Given the description of an element on the screen output the (x, y) to click on. 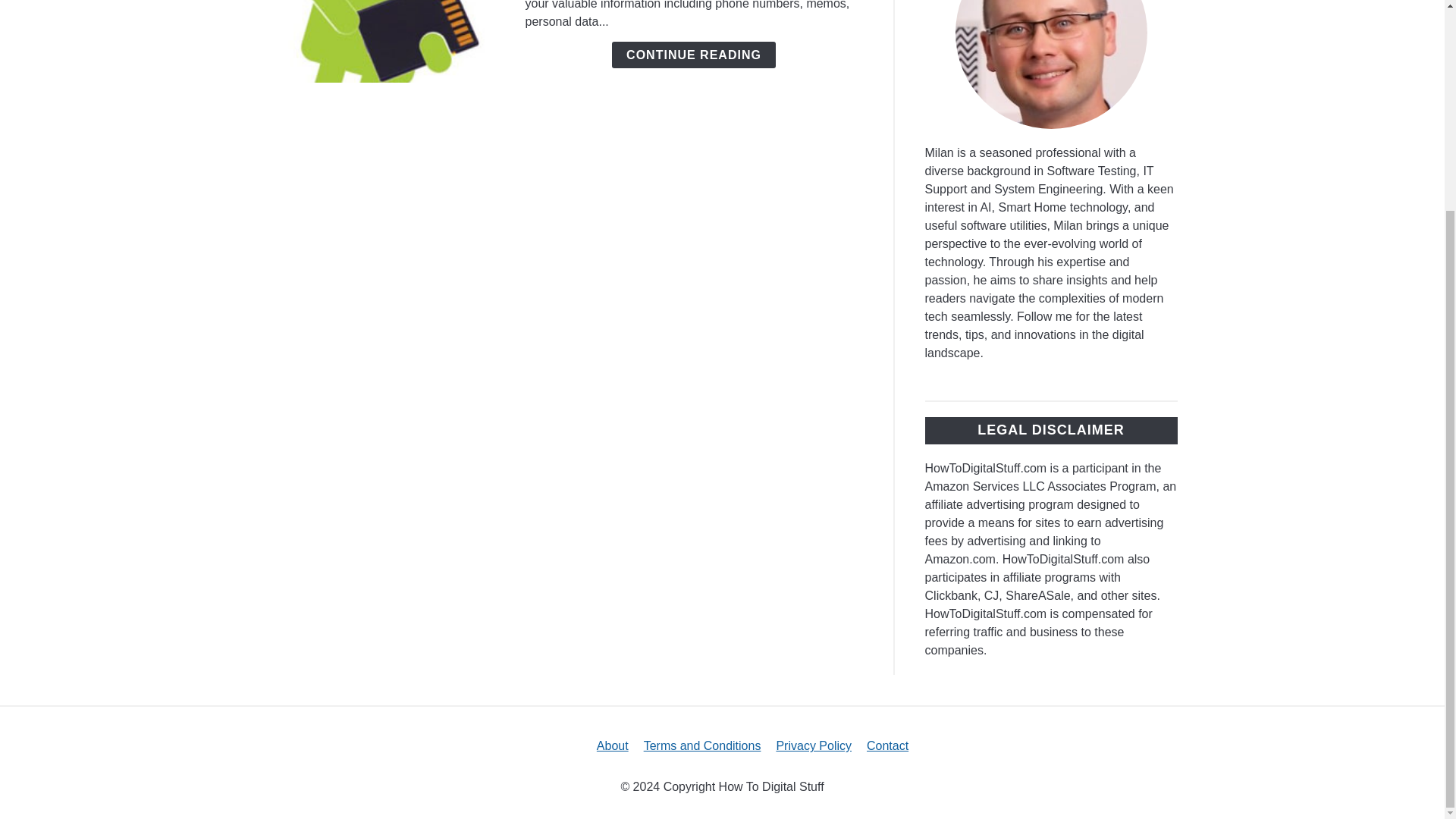
About (612, 745)
Contact (887, 745)
Privacy Policy (813, 745)
Terms and Conditions (702, 745)
CONTINUE READING (693, 54)
